Given the description of an element on the screen output the (x, y) to click on. 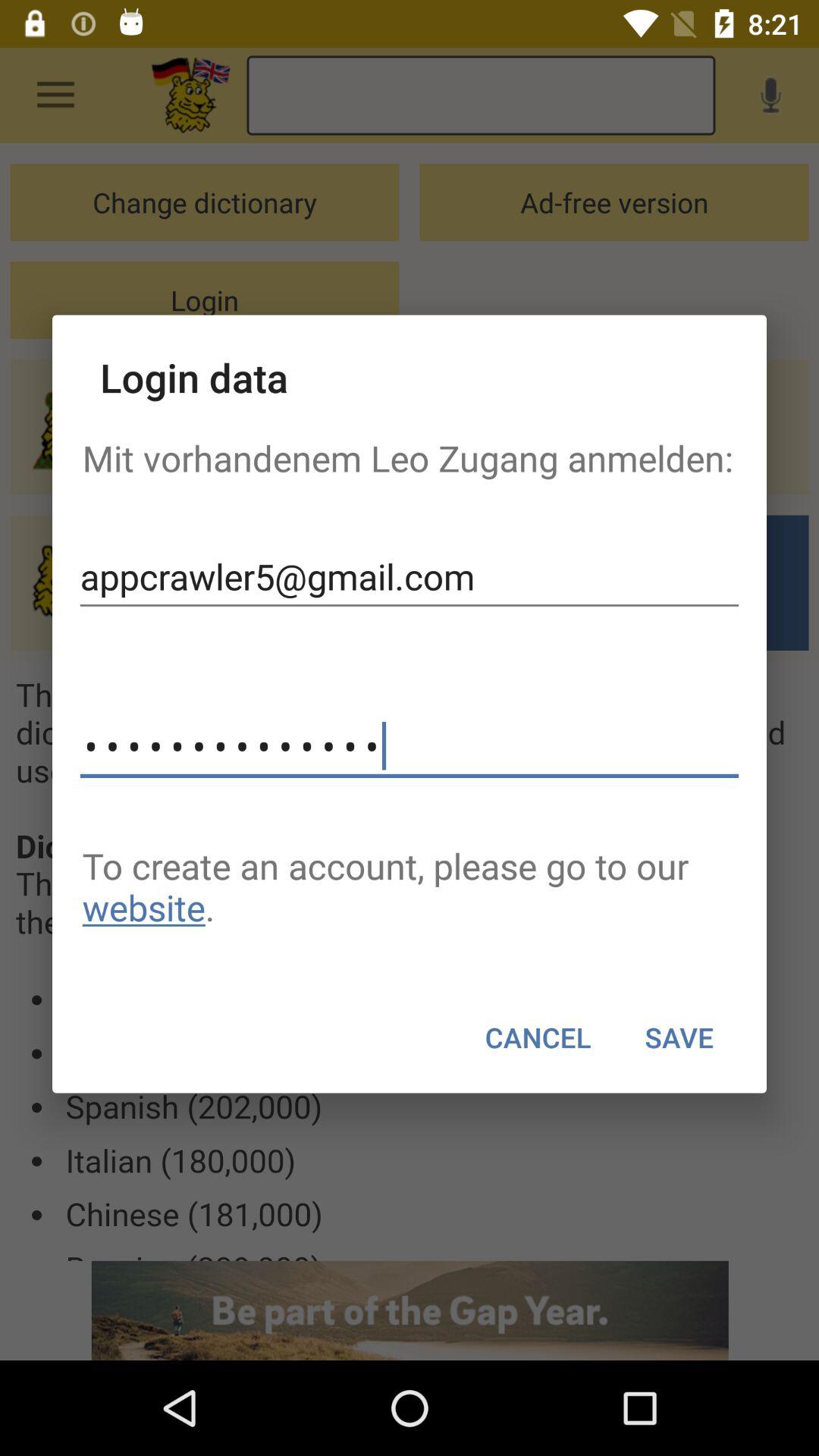
choose save item (678, 1037)
